Given the description of an element on the screen output the (x, y) to click on. 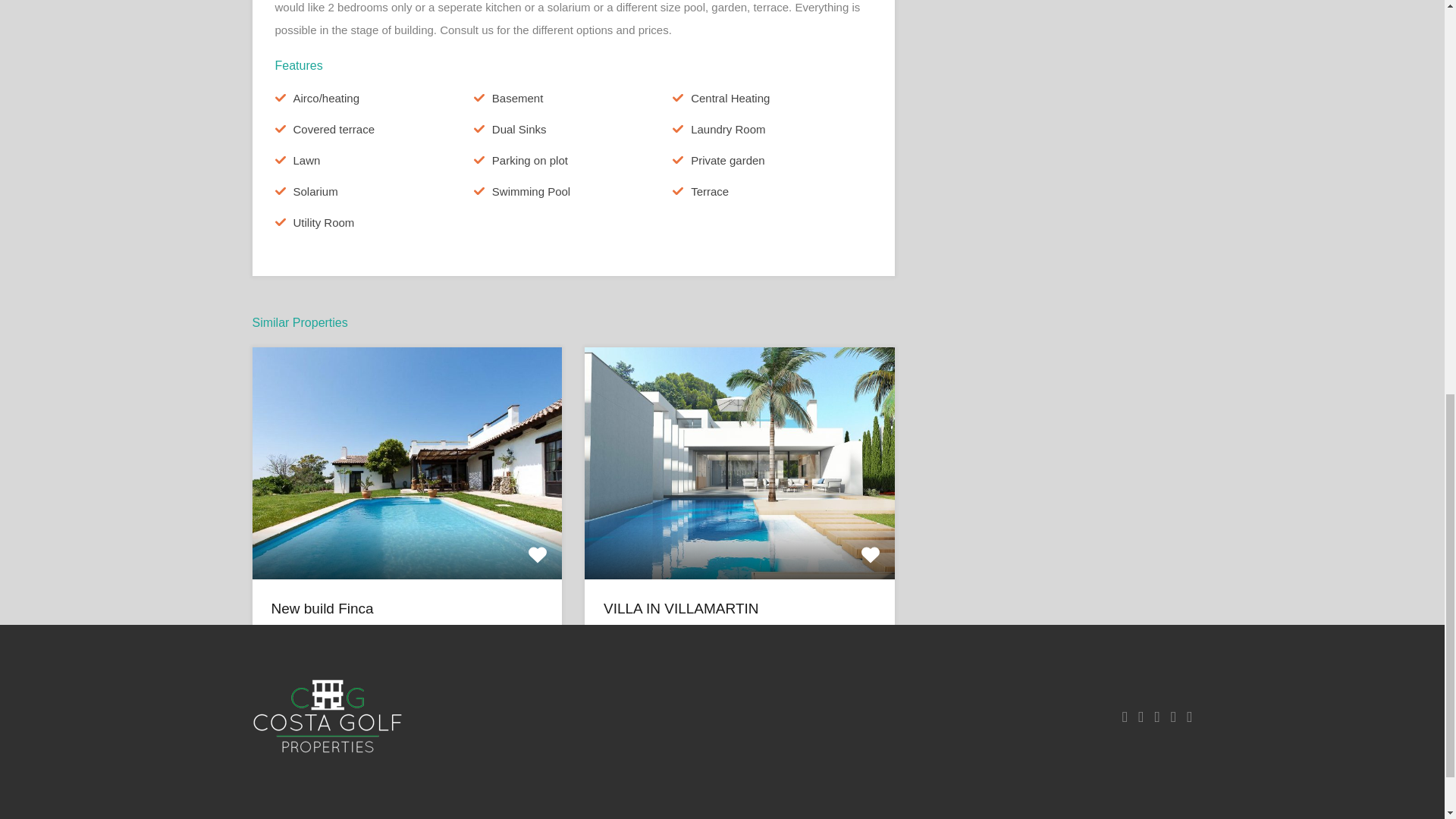
Costa Golf Properties (327, 715)
